Given the description of an element on the screen output the (x, y) to click on. 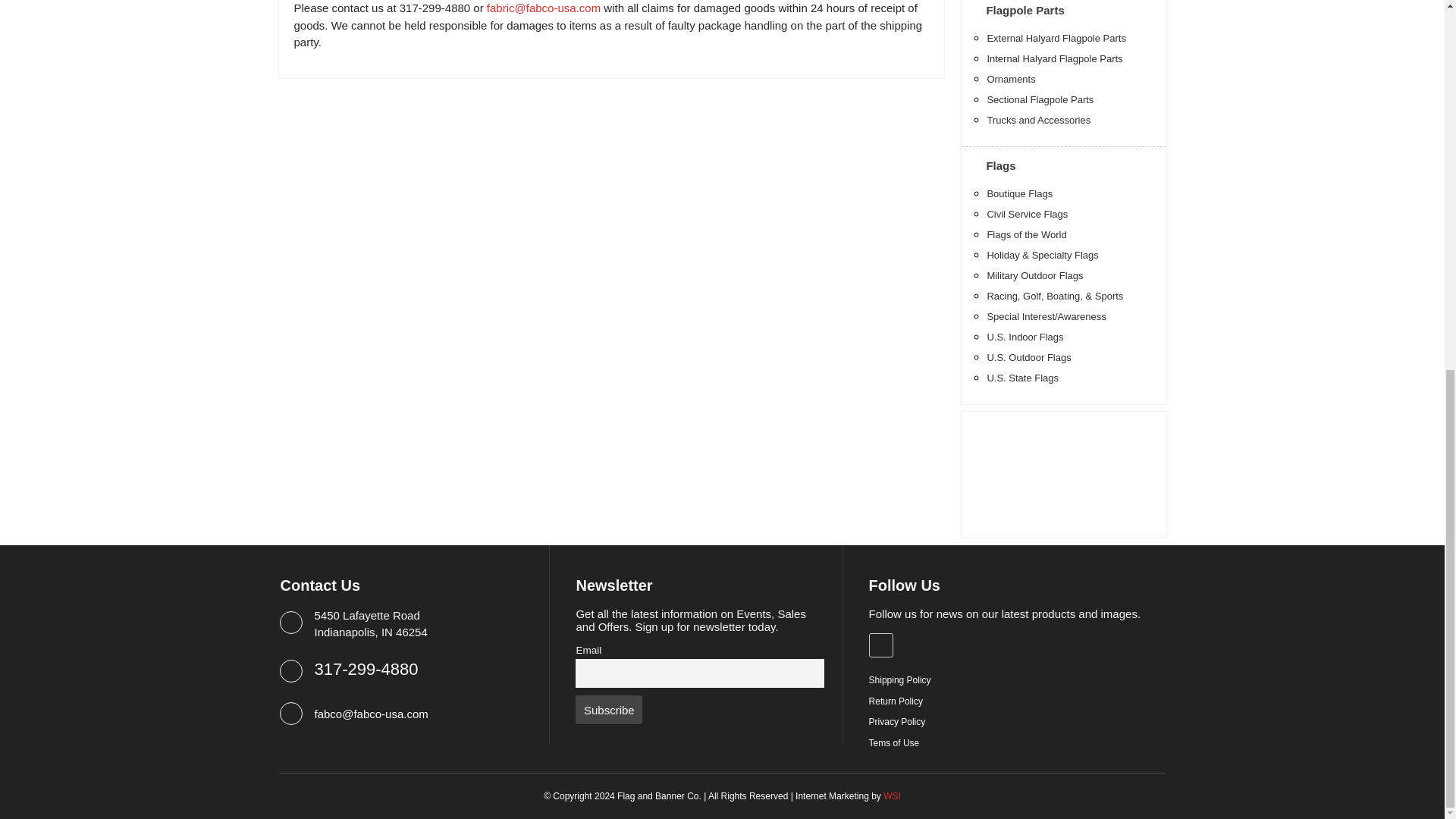
Subscribe (608, 709)
